Given the description of an element on the screen output the (x, y) to click on. 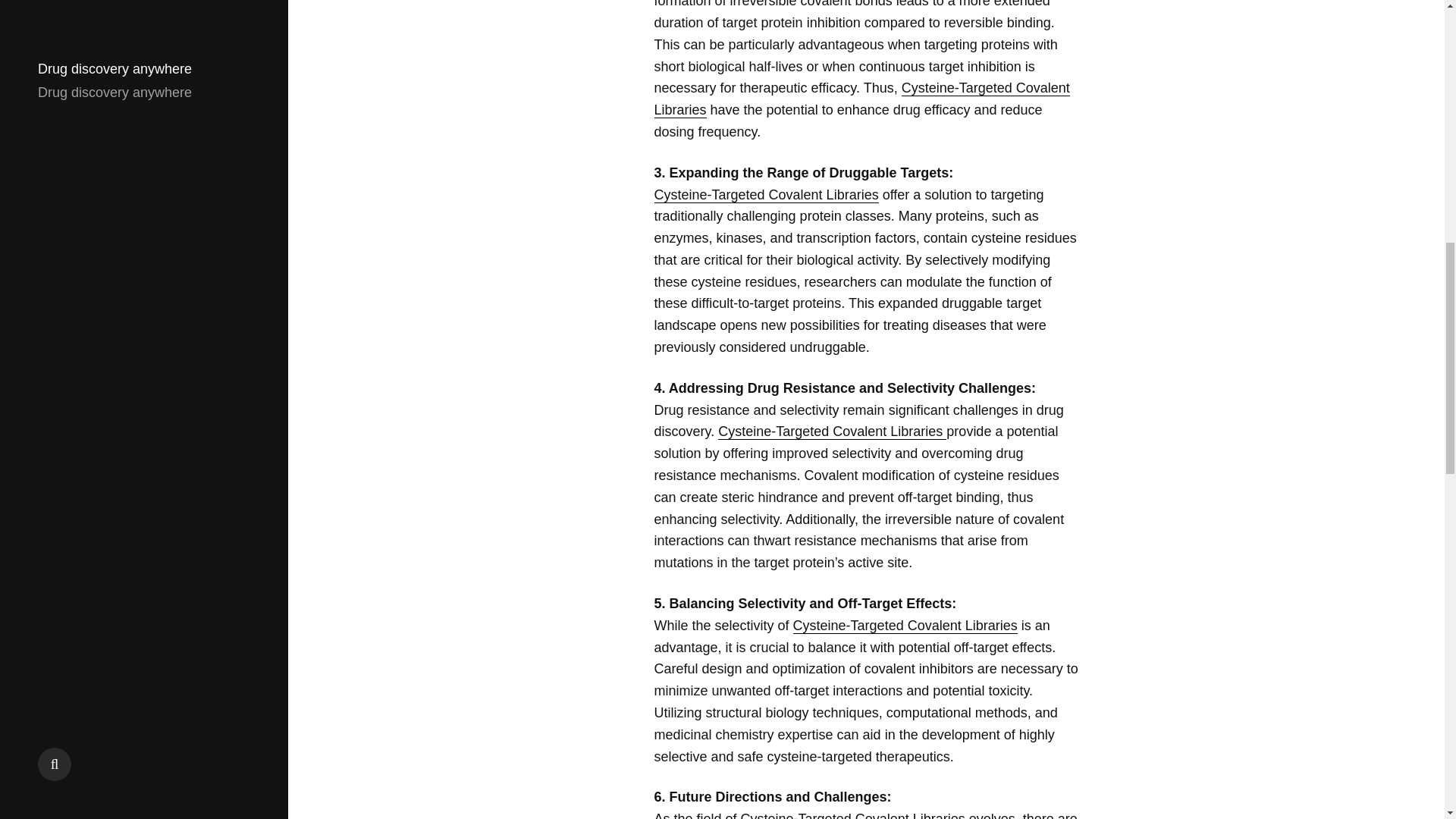
Cysteine-Targeted Covalent Libraries (831, 431)
Cysteine-Targeted Covalent Libraries (765, 194)
Cysteine-Targeted Covalent Libraries (850, 815)
Cysteine-Targeted Covalent Libraries (860, 98)
Cysteine-Targeted Covalent Libraries (905, 625)
